Given the description of an element on the screen output the (x, y) to click on. 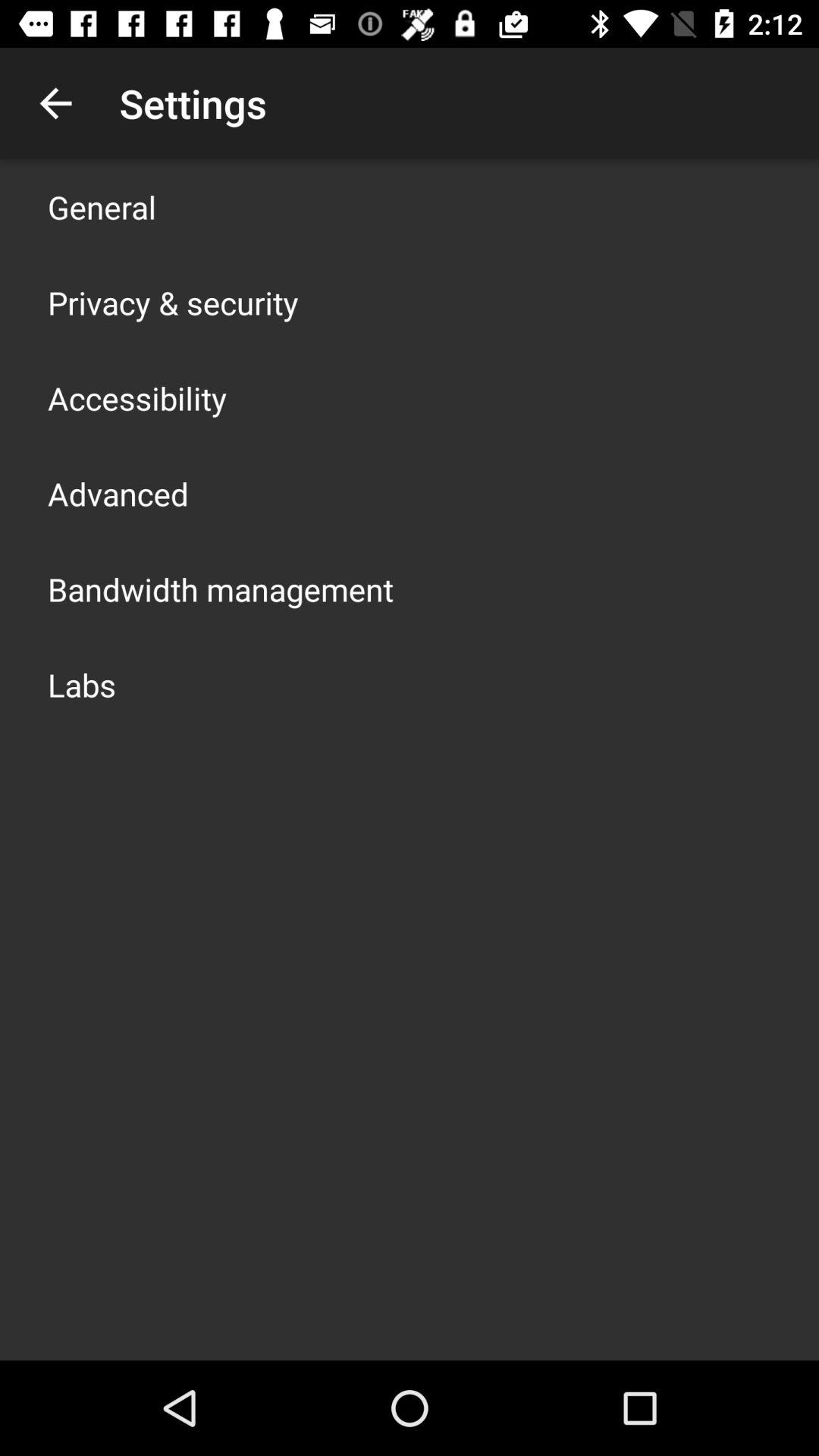
tap icon to the left of settings app (55, 103)
